Given the description of an element on the screen output the (x, y) to click on. 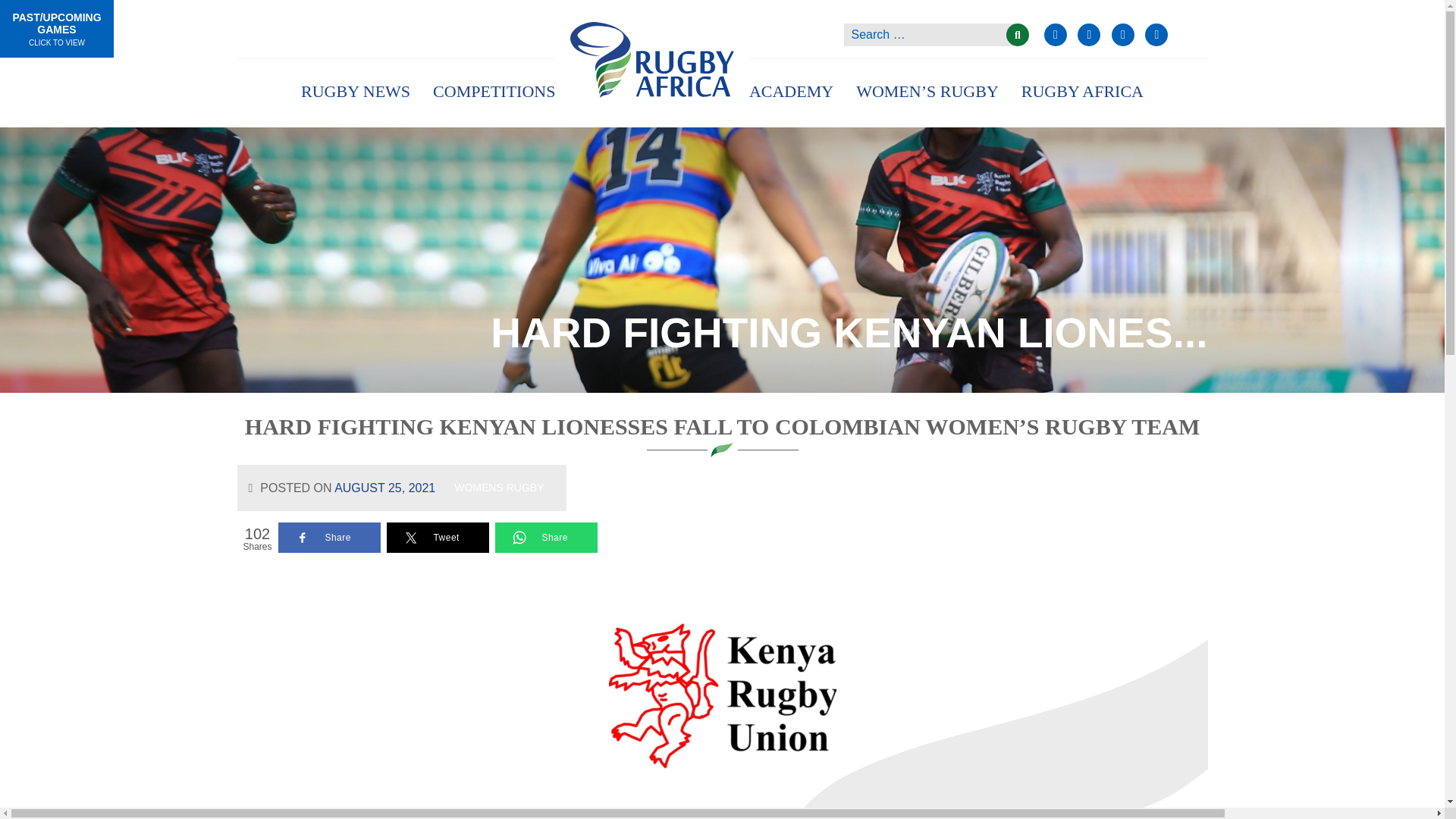
RUGBY NEWS (355, 91)
COMPETITIONS (493, 91)
